Given the description of an element on the screen output the (x, y) to click on. 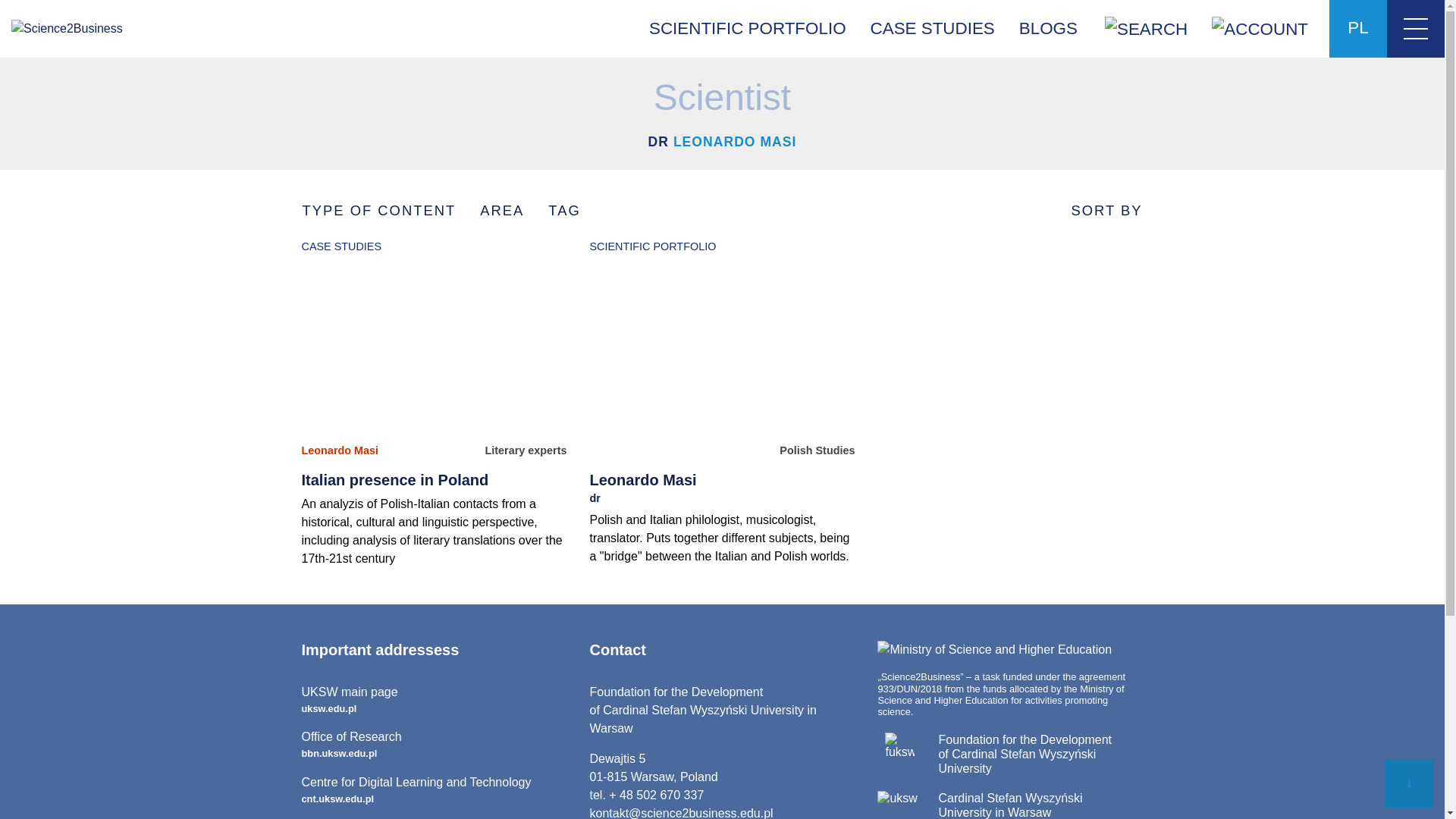
literary experts (525, 451)
TYPE OF CONTENT (378, 210)
Leonardo Masi (434, 790)
TAG (434, 700)
PL (339, 451)
CASE STUDIES (563, 210)
